Given the description of an element on the screen output the (x, y) to click on. 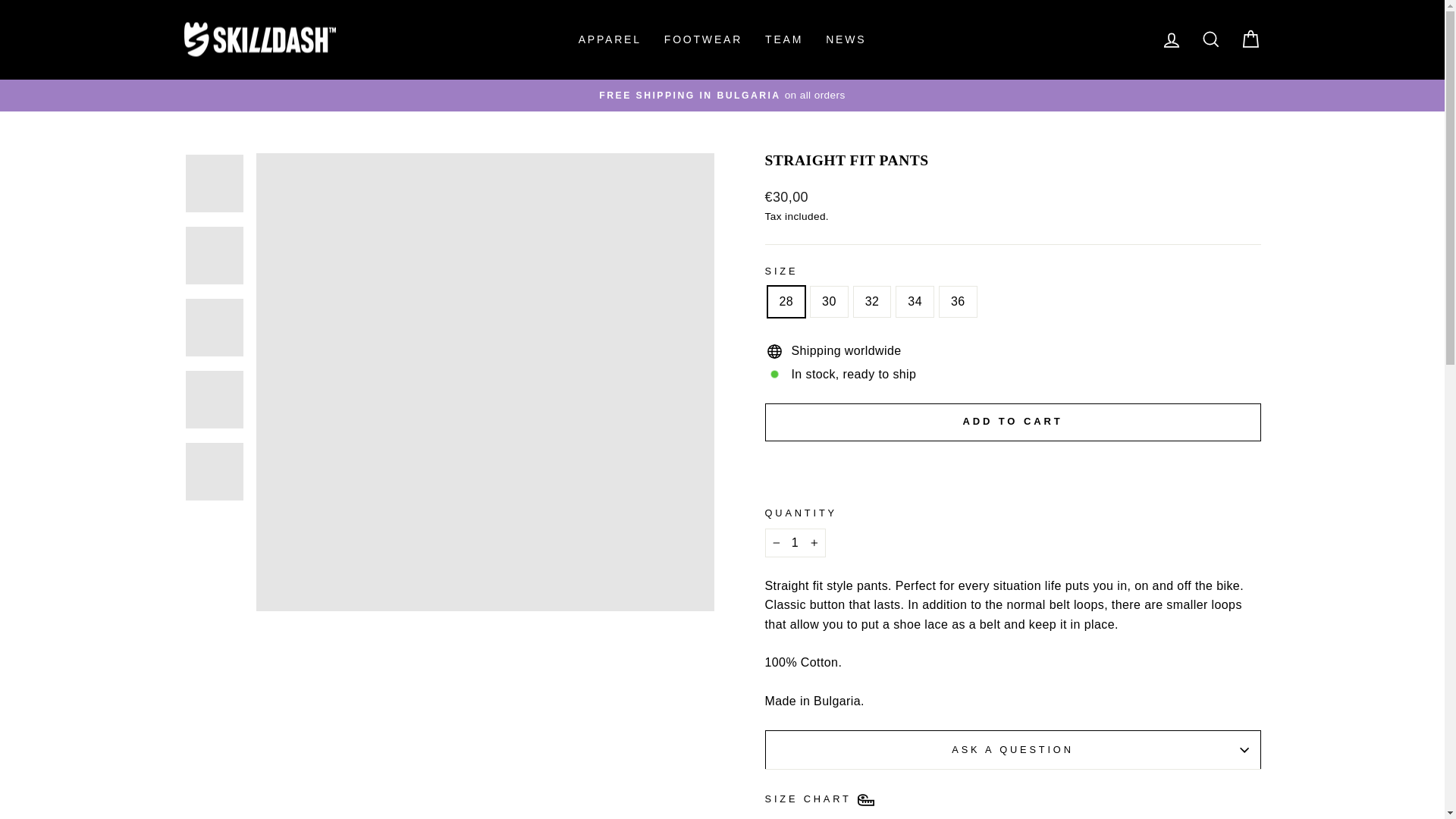
LOG IN (1171, 39)
APPAREL (609, 39)
1 (794, 542)
NEWS (845, 39)
CART (1249, 39)
TEAM (783, 39)
SEARCH (1210, 39)
FOOTWEAR (703, 39)
